Given the description of an element on the screen output the (x, y) to click on. 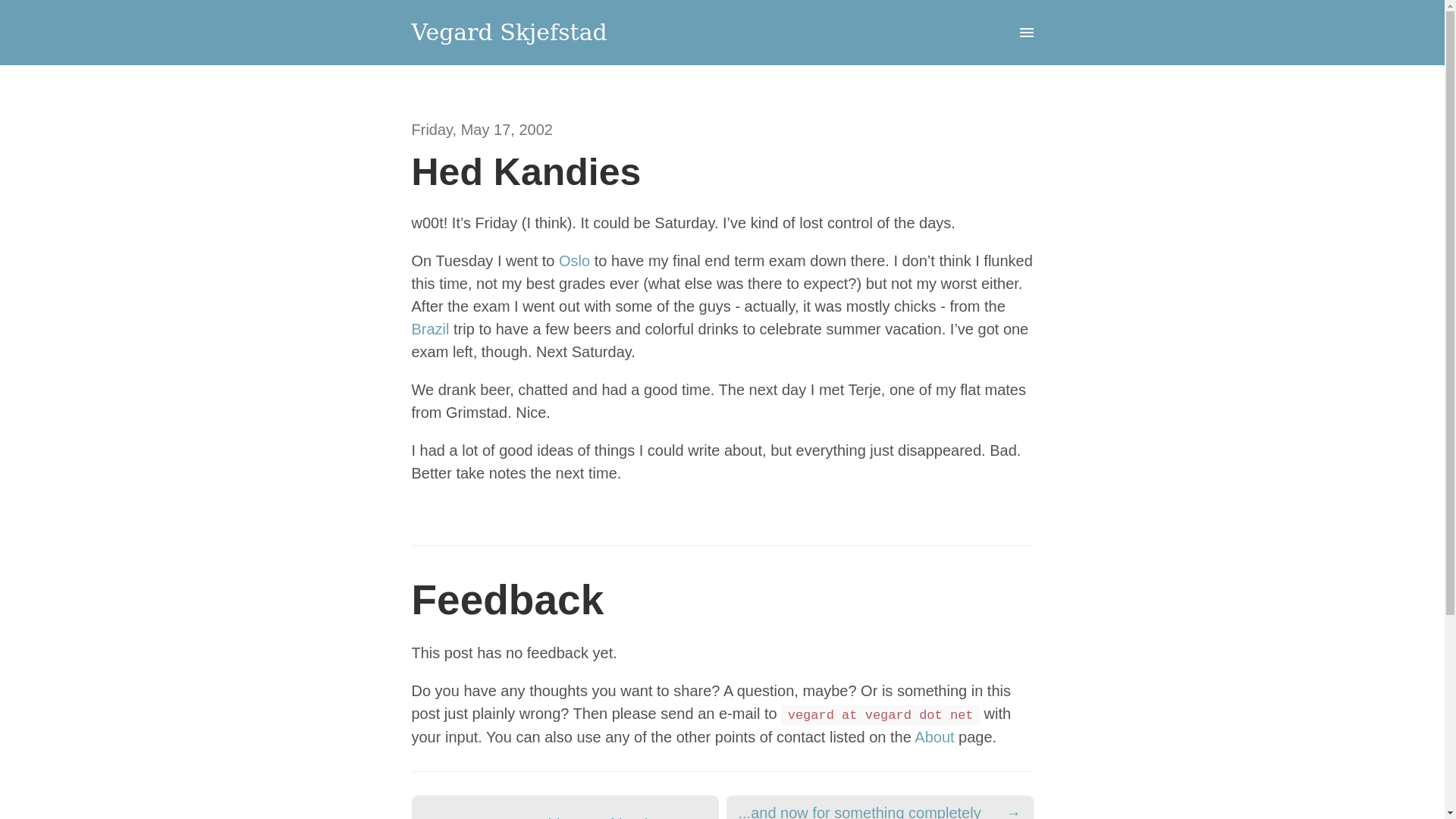
Vegard Skjefstad (508, 32)
About (933, 736)
Oslo (574, 259)
Brazil (429, 328)
